Given the description of an element on the screen output the (x, y) to click on. 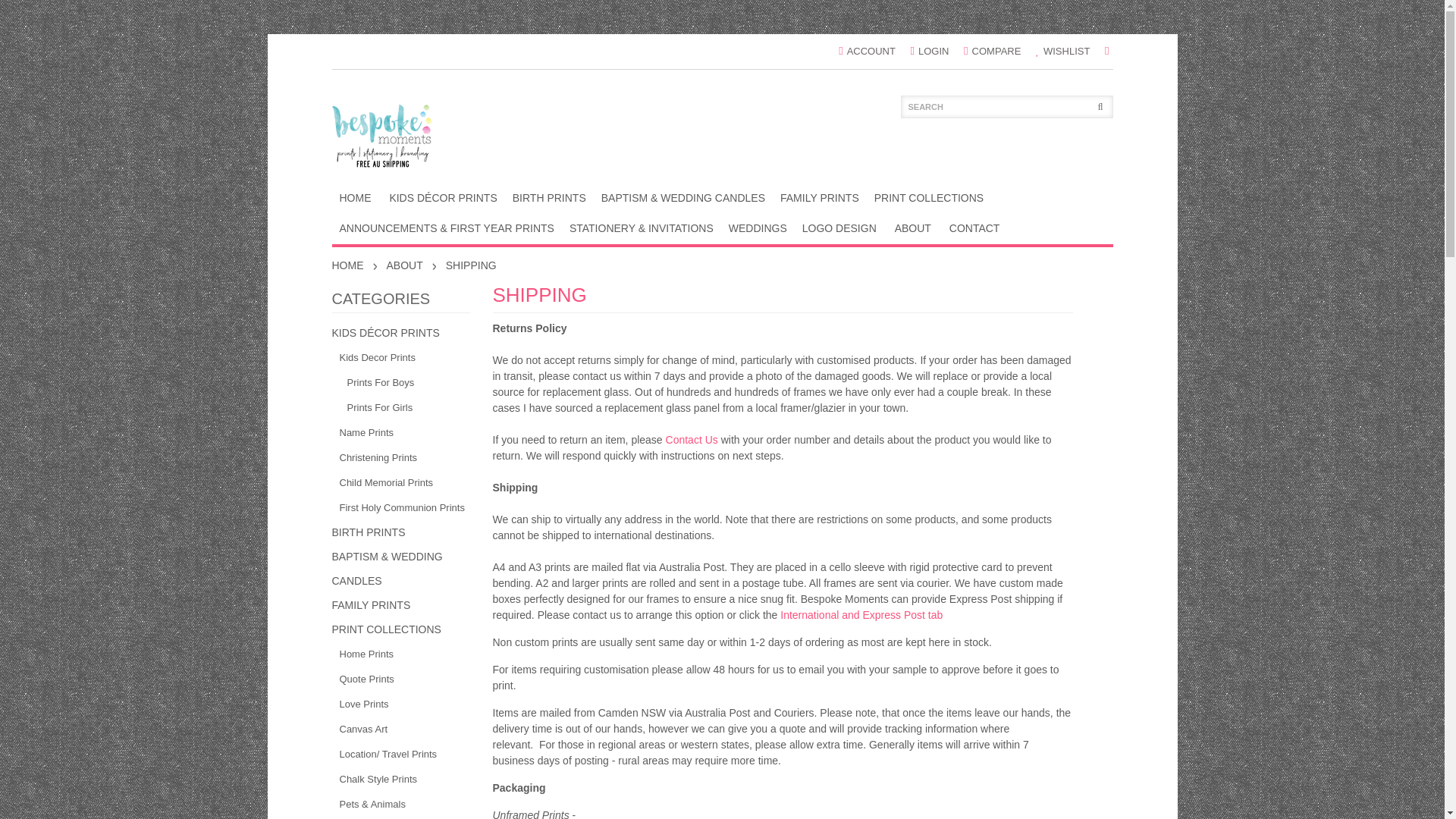
Search (1007, 106)
